Given the description of an element on the screen output the (x, y) to click on. 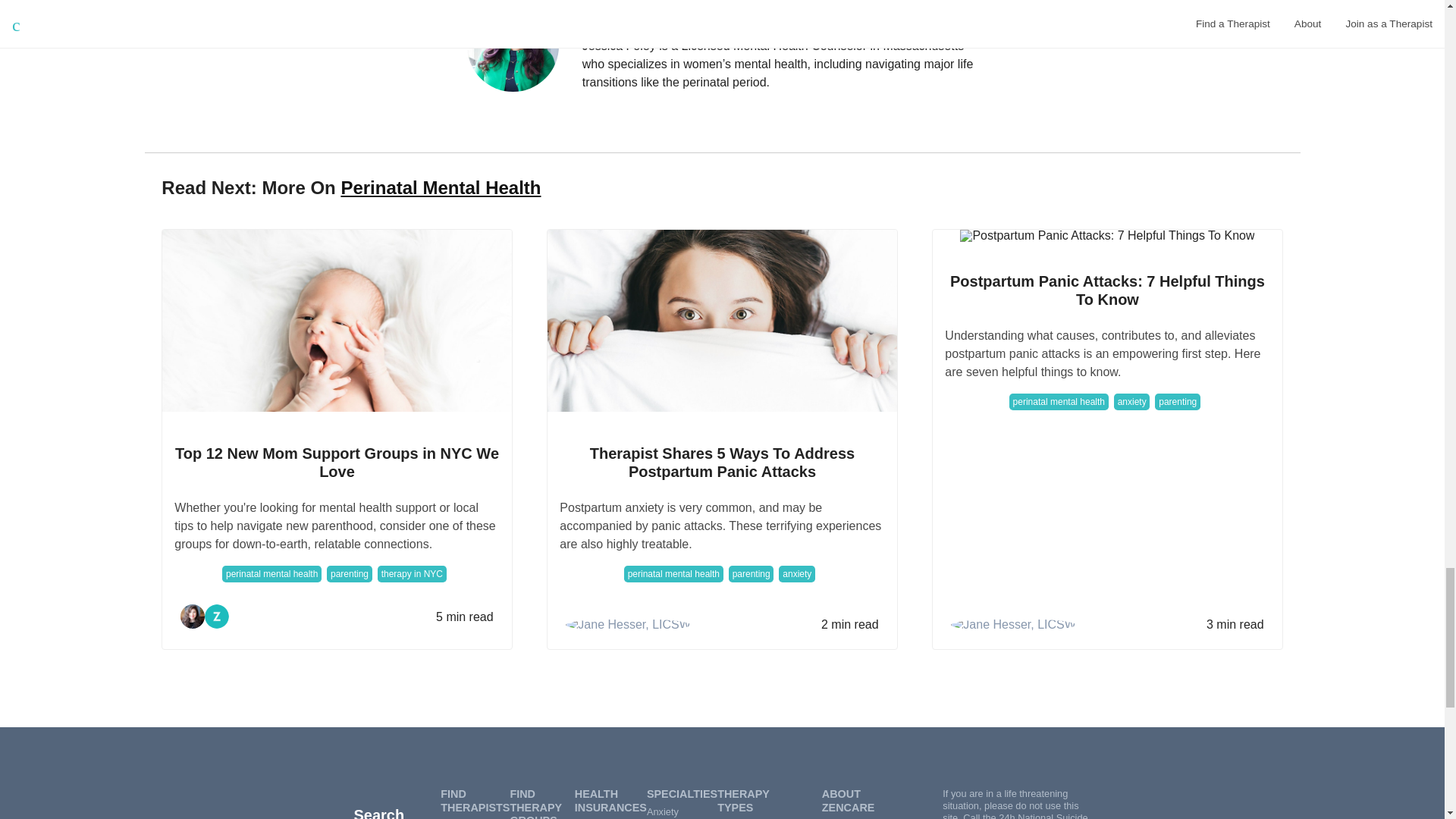
Jane Hesser, LICSW (1012, 624)
Top 12 New Mom Support Groups in NYC We Love (336, 462)
parenting (751, 573)
Postpartum Panic Attacks: 7 Helpful Things To Know (1106, 235)
Jane Hesser, LICSW (628, 624)
Zencare team (216, 617)
Jessica Foley, LMHC (781, 9)
therapy in NYC (411, 573)
Therapist Shares 5 Ways To Address Postpartum Panic Attacks (721, 320)
Postpartum Panic Attacks: 7 Helpful Things To Know (1106, 289)
Perinatal Mental Health (440, 187)
perinatal mental health (271, 573)
perinatal mental health (673, 573)
Therapist Shares 5 Ways To Address Postpartum Panic Attacks (721, 462)
Zencare team (216, 616)
